Given the description of an element on the screen output the (x, y) to click on. 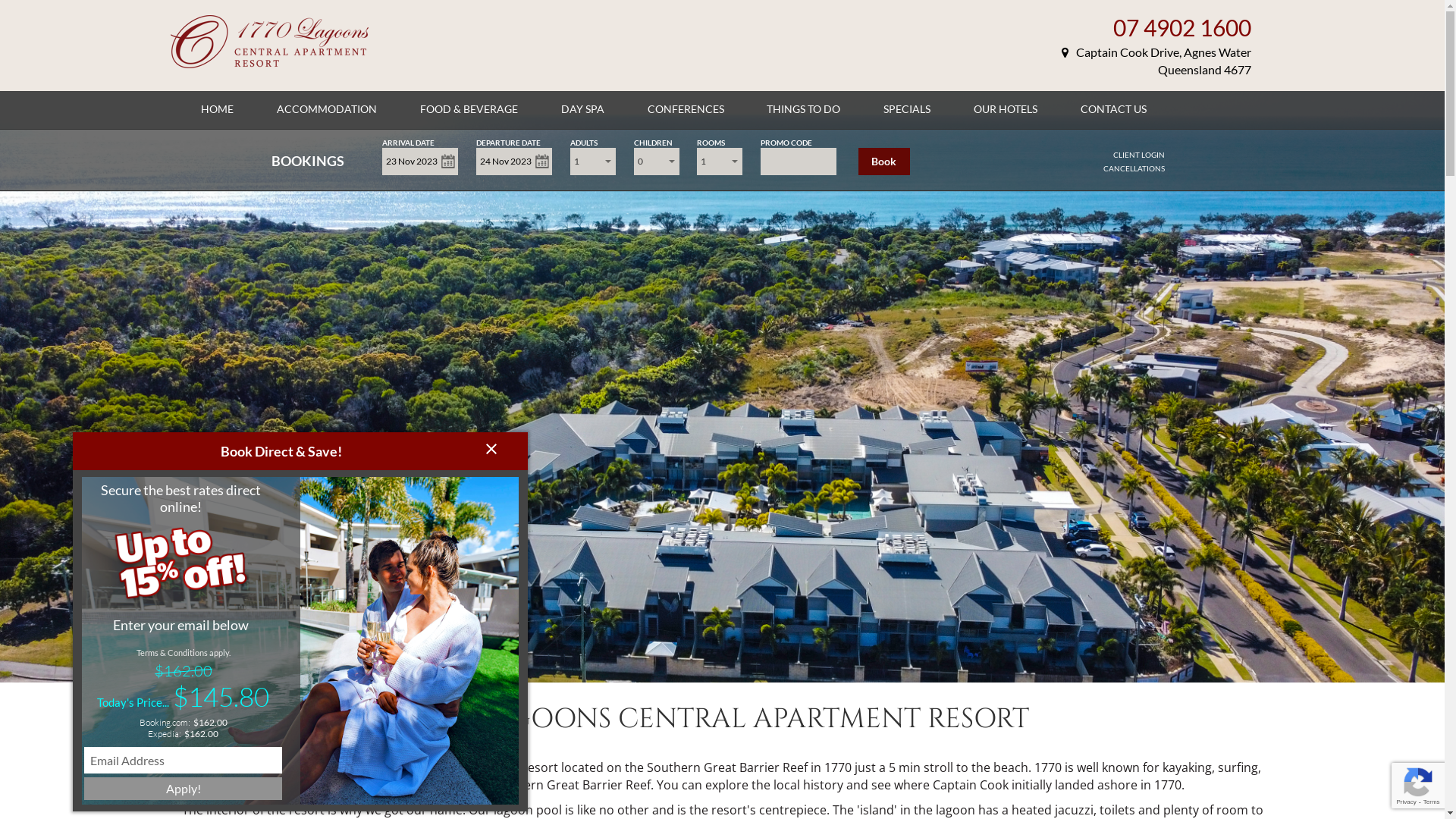
07 4902 1600 Element type: text (1182, 26)
Book Element type: text (884, 161)
Terms & Conditions apply. Element type: text (183, 652)
ACCOMMODATION Element type: text (326, 109)
Apply! Element type: text (183, 788)
Captain Cook Drive, Agnes Water
Queensland 4677 Element type: text (1156, 60)
THINGS TO DO Element type: text (803, 109)
FOOD & BEVERAGE Element type: text (468, 109)
SPECIALS Element type: text (906, 109)
OUR HOTELS Element type: text (1005, 109)
HOME Element type: text (216, 109)
CONTACT US Element type: text (1113, 109)
CLIENT LOGIN Element type: text (1138, 154)
CANCELLATIONS Element type: text (1133, 167)
CONFERENCES Element type: text (685, 109)
DAY SPA Element type: text (582, 109)
